Given the description of an element on the screen output the (x, y) to click on. 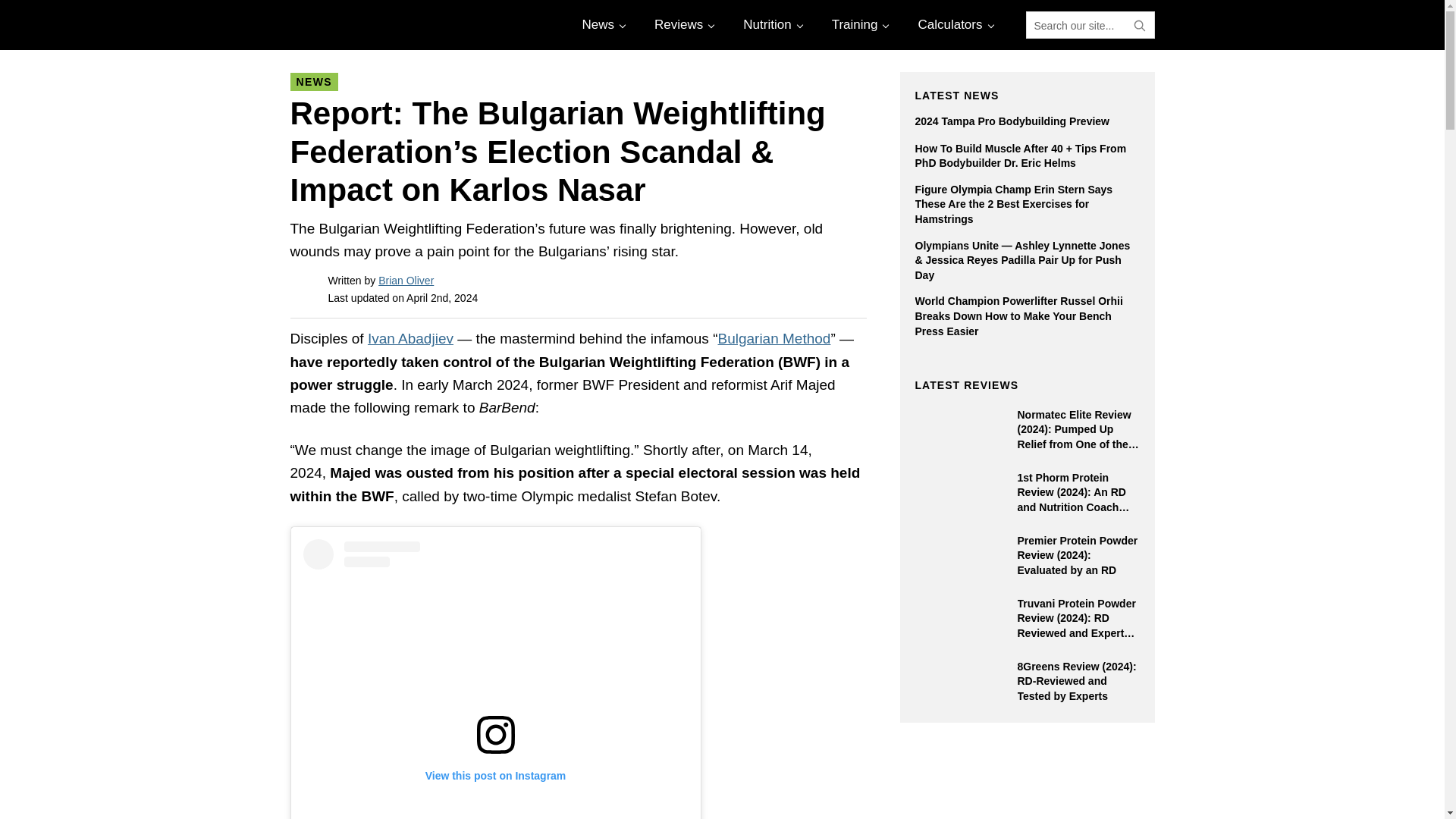
Reviews (682, 24)
News (602, 24)
